Given the description of an element on the screen output the (x, y) to click on. 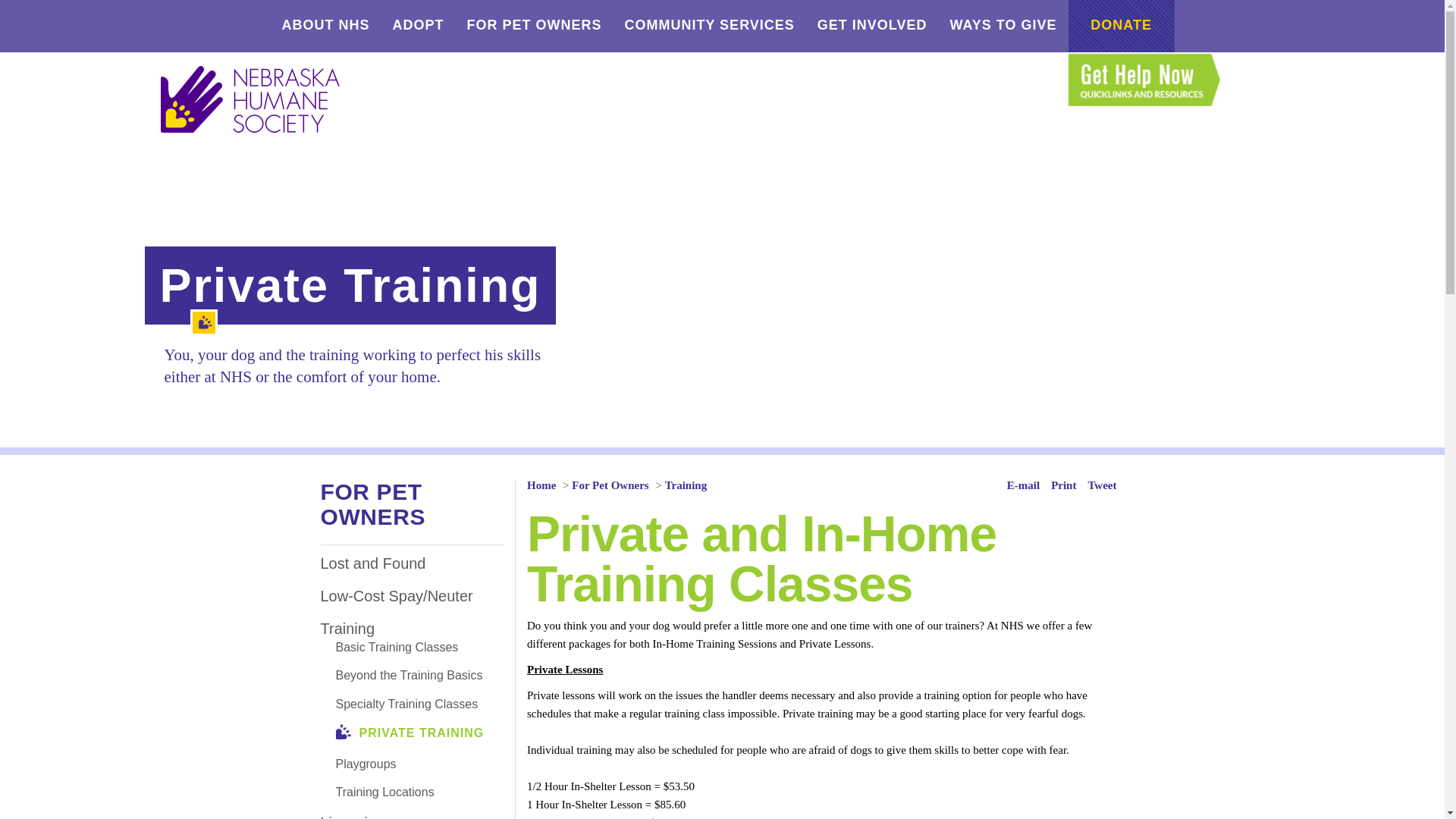
ABOUT NHS (324, 26)
FOR PET OWNERS (533, 26)
ADOPT (417, 26)
